Given the description of an element on the screen output the (x, y) to click on. 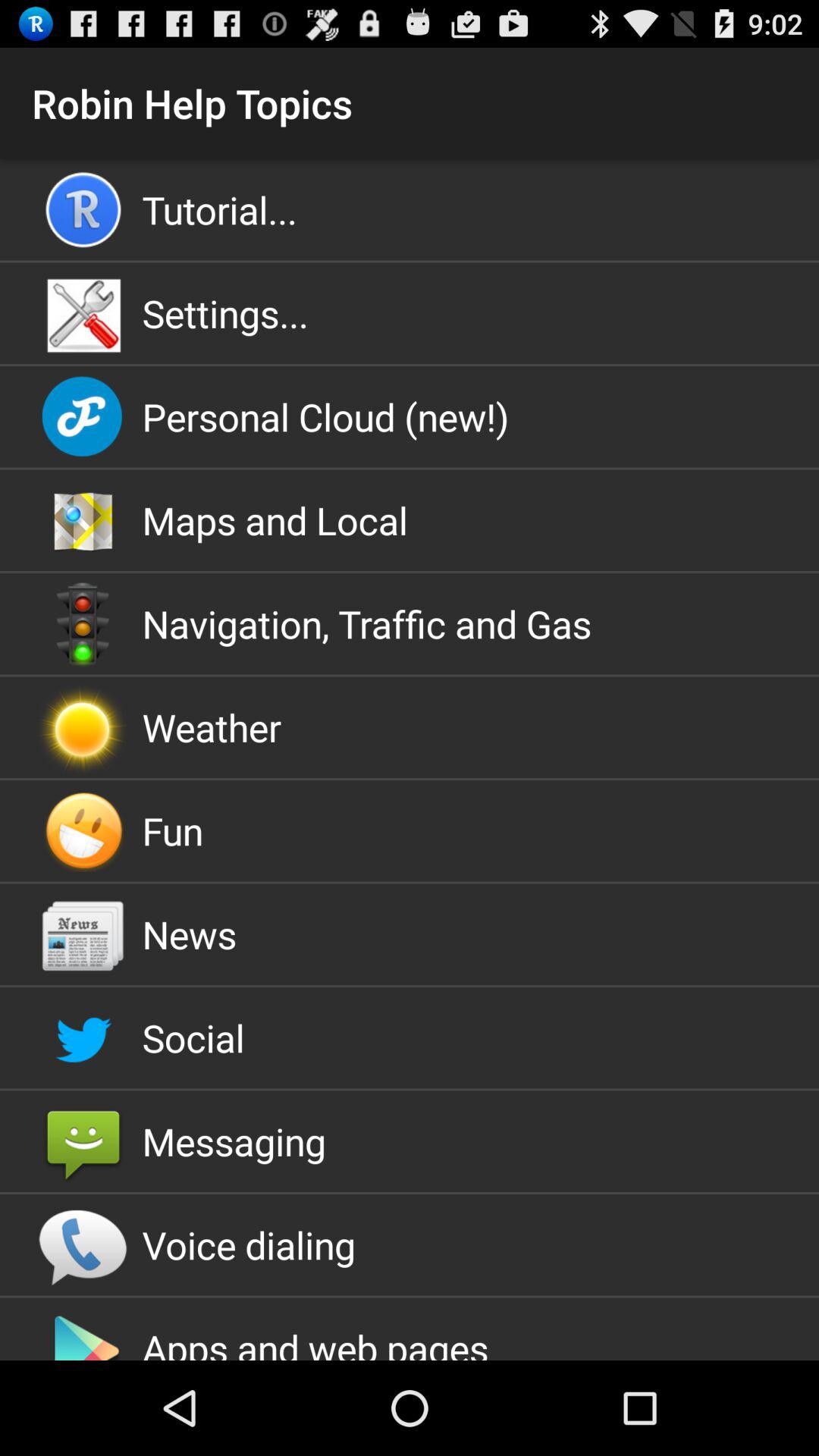
flip to fun (409, 830)
